Given the description of an element on the screen output the (x, y) to click on. 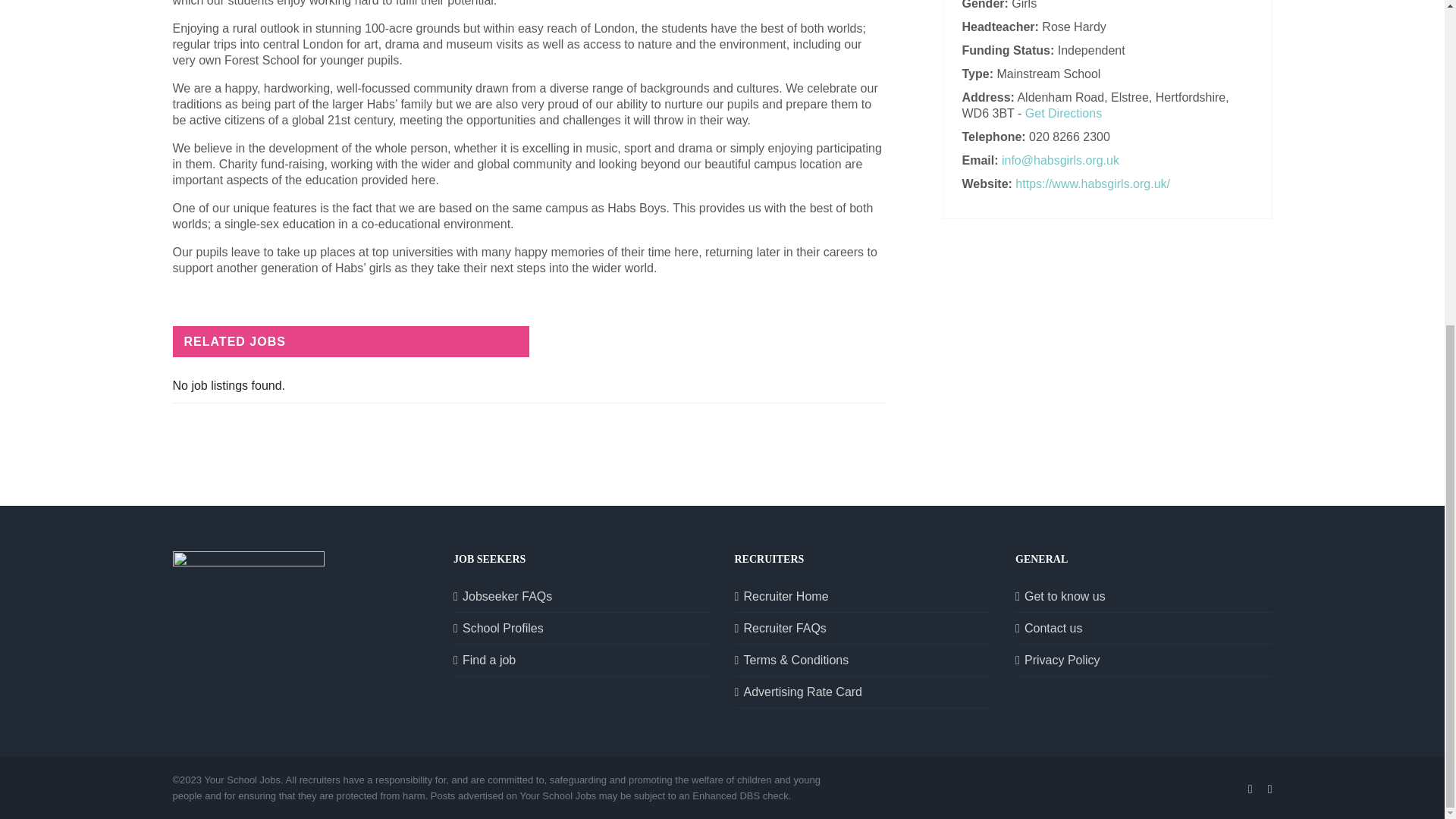
Get Directions (1063, 113)
Recruiter FAQs (863, 627)
Advertising Rate Card (863, 691)
Jobseeker FAQs (583, 596)
School Profiles (583, 627)
Recruiter Home (863, 596)
Find a job (583, 659)
